Given the description of an element on the screen output the (x, y) to click on. 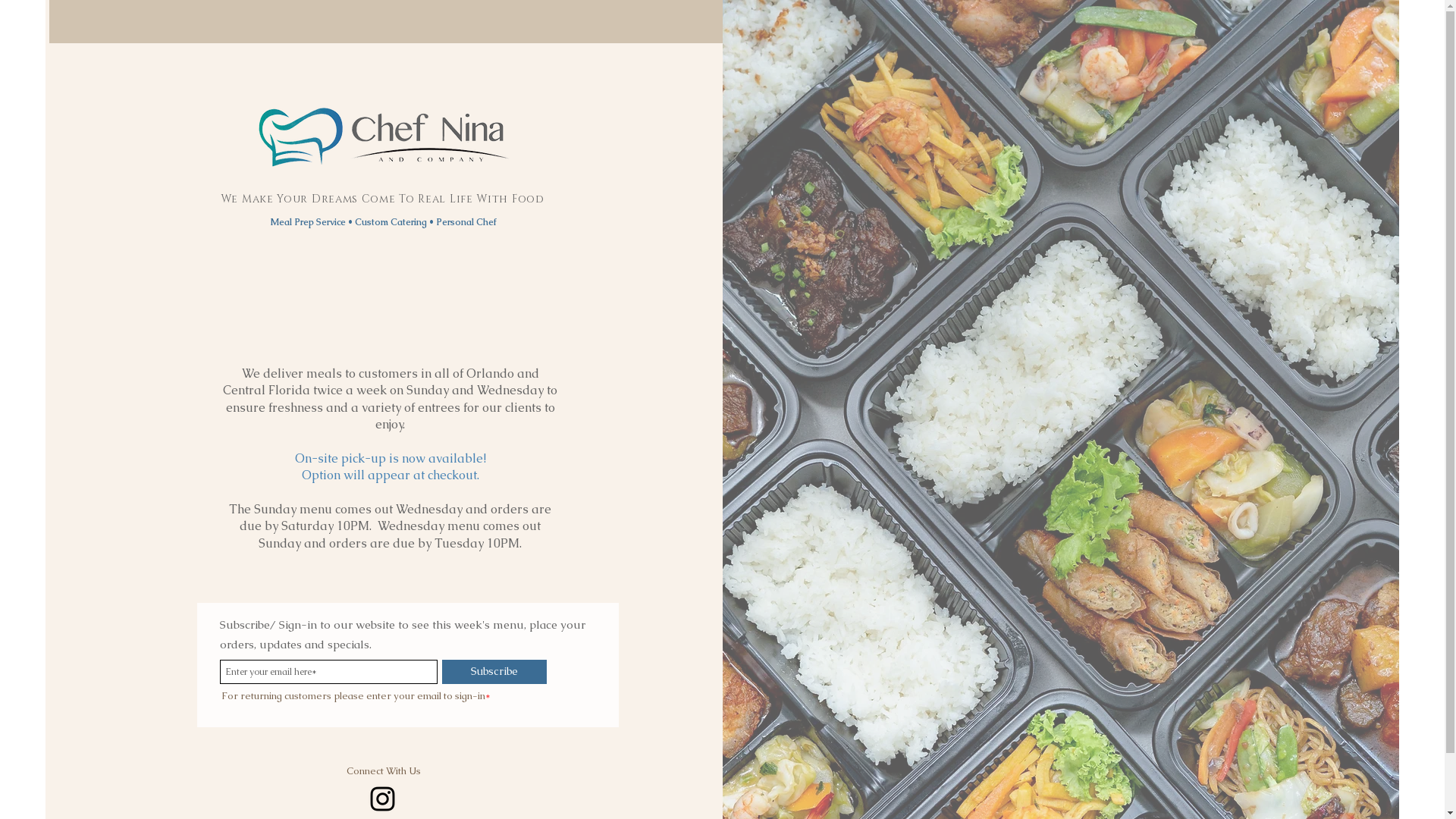
Subscribe Element type: text (494, 671)
